Given the description of an element on the screen output the (x, y) to click on. 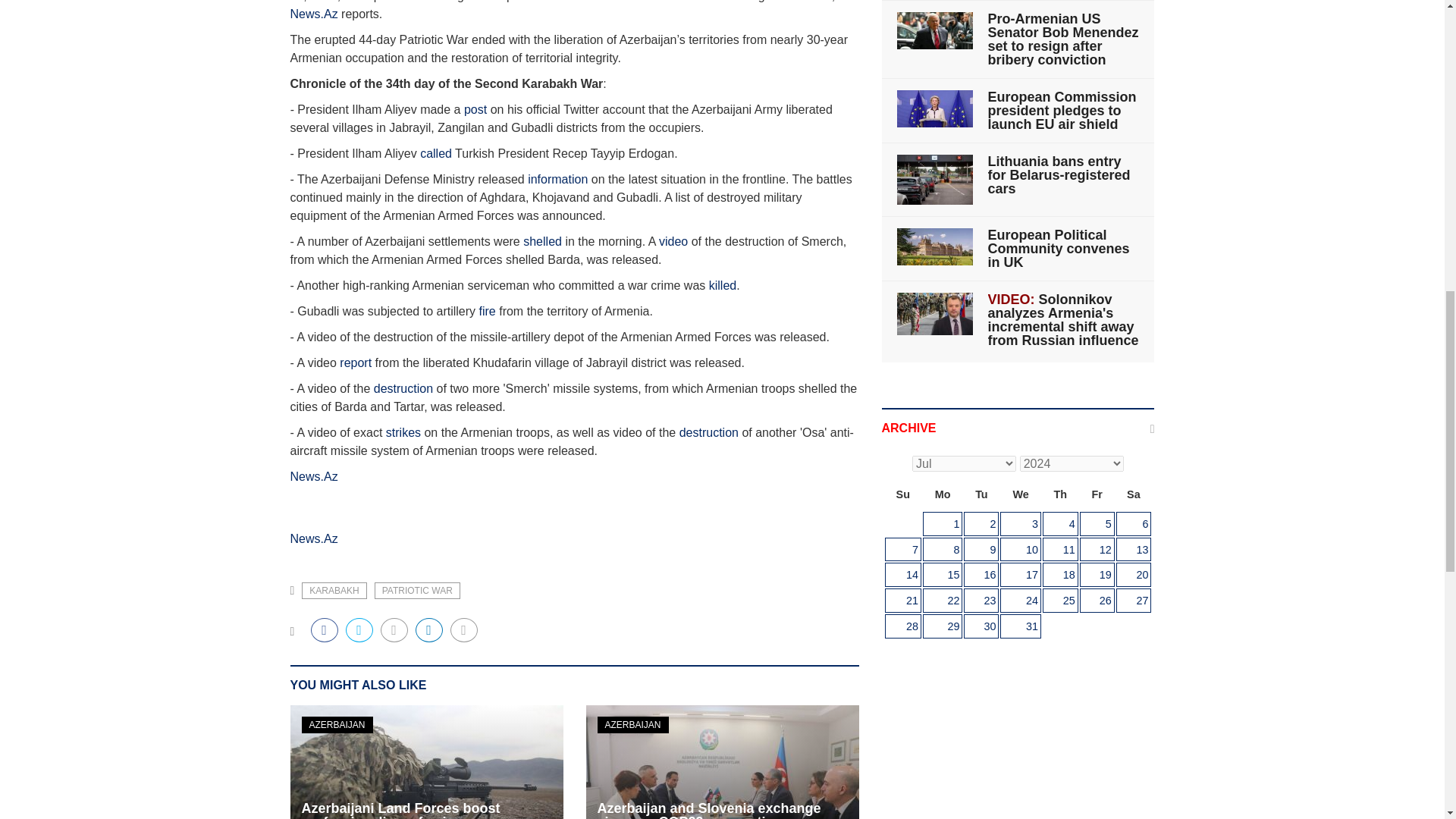
report (355, 362)
called (435, 153)
killed (722, 285)
shelled  (543, 241)
News.Az (313, 13)
 fire (486, 310)
Share news on Twitter (359, 629)
post (475, 109)
information (557, 178)
video (673, 241)
Share news on Facebook (324, 629)
